Given the description of an element on the screen output the (x, y) to click on. 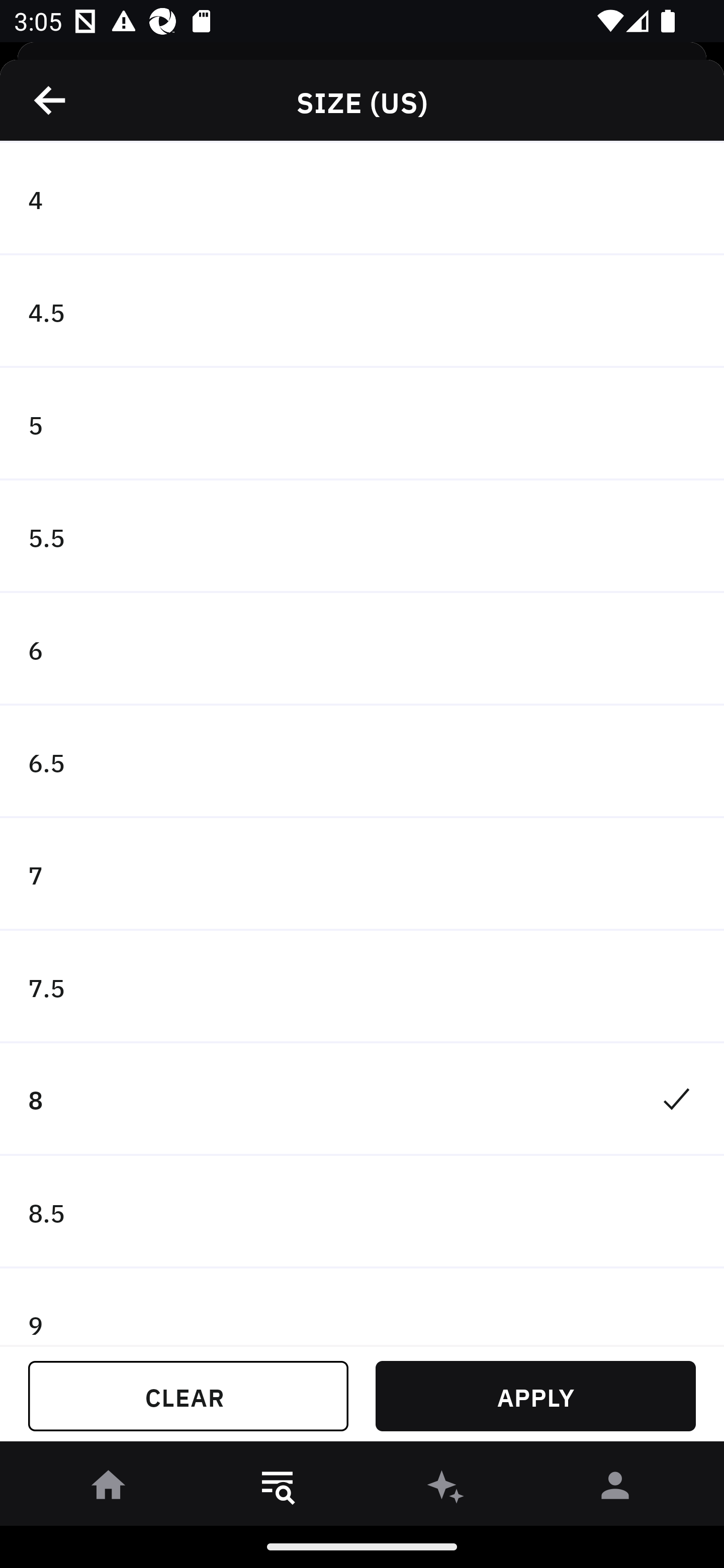
 (50, 100)
4 (362, 198)
4.5 (362, 311)
5 (362, 423)
5.5 (362, 535)
6 (362, 648)
6.5 (362, 761)
7 (362, 874)
7.5 (362, 986)
8  (362, 1098)
8.5 (362, 1211)
9 (362, 1306)
CLEAR  (188, 1396)
APPLY (535, 1396)
󰋜 (108, 1488)
󱎸 (277, 1488)
󰫢 (446, 1488)
󰀄 (615, 1488)
